Given the description of an element on the screen output the (x, y) to click on. 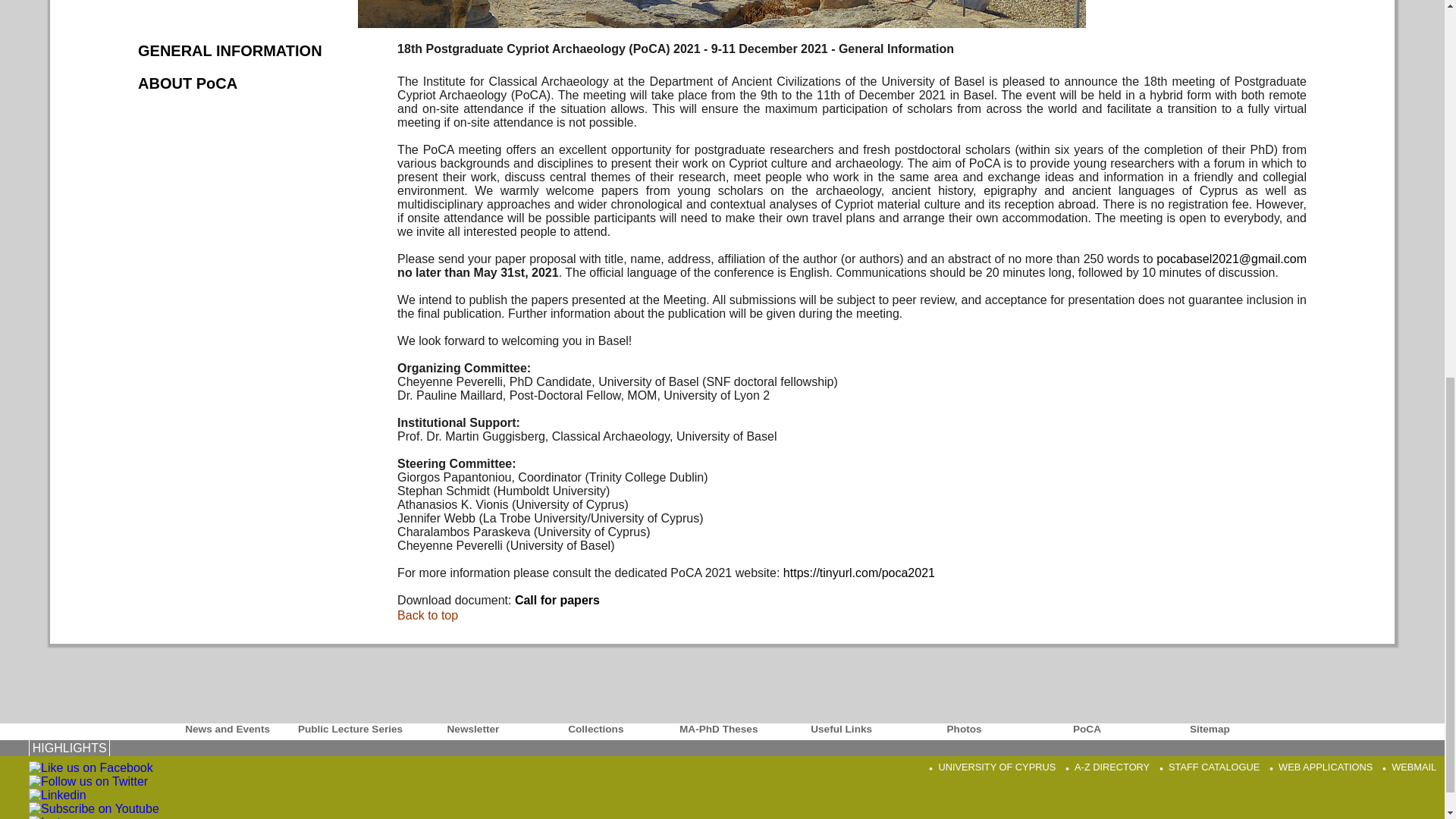
Like us on Facebook (90, 767)
Linkedin (57, 795)
MA-PhD Theses (718, 728)
Collections (595, 728)
Useful Links (840, 728)
GENERAL INFORMATION (229, 50)
Public Lecture Series (349, 728)
Follow us on Twitter (88, 781)
ABOUT PoCA (187, 83)
Call for papers (557, 599)
Photos (963, 728)
Newsletter (472, 728)
Subscribe on Youtube (93, 808)
News and Events (227, 728)
Back to top (427, 615)
